Given the description of an element on the screen output the (x, y) to click on. 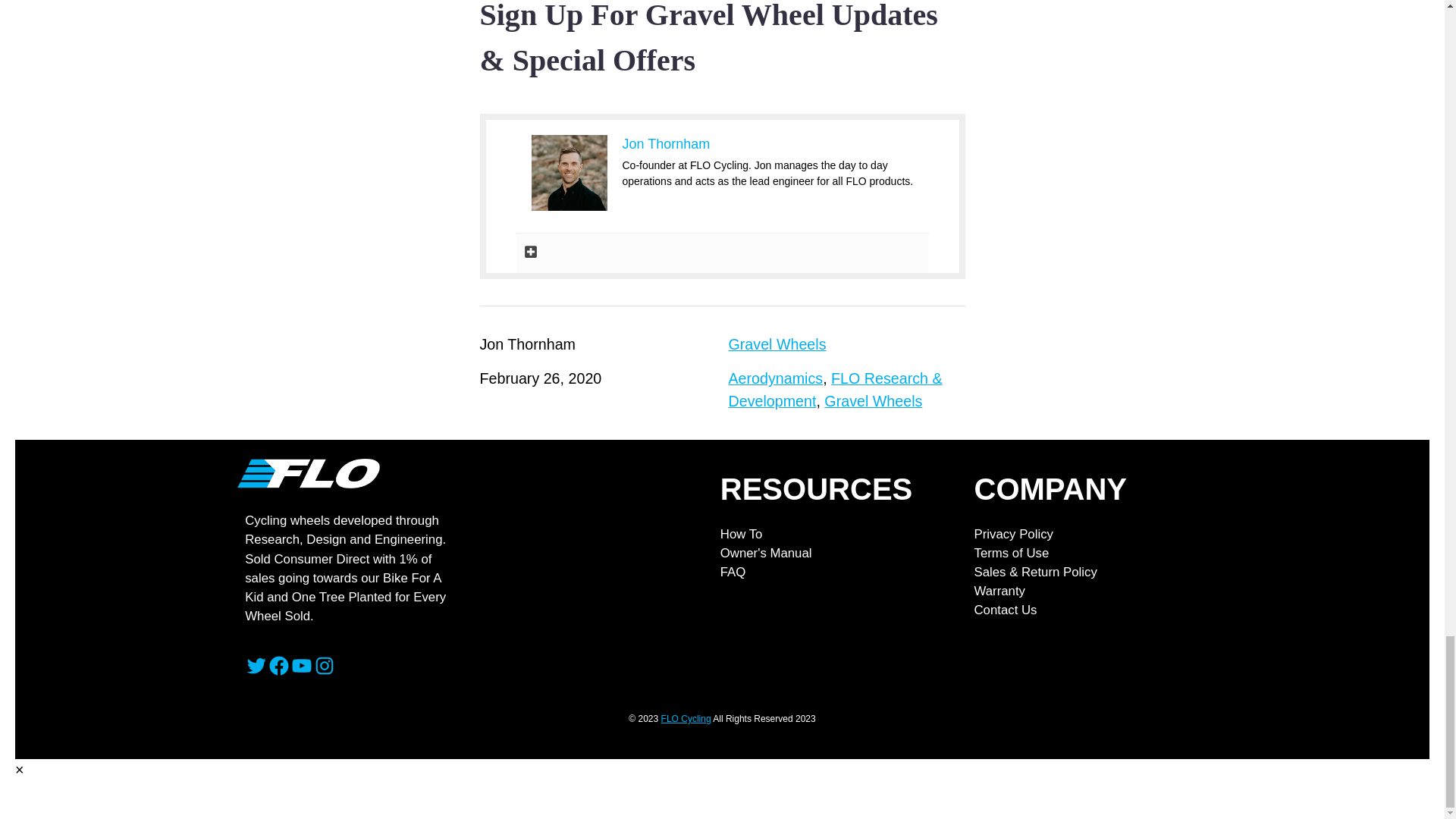
Jon Thornham (665, 143)
